Given the description of an element on the screen output the (x, y) to click on. 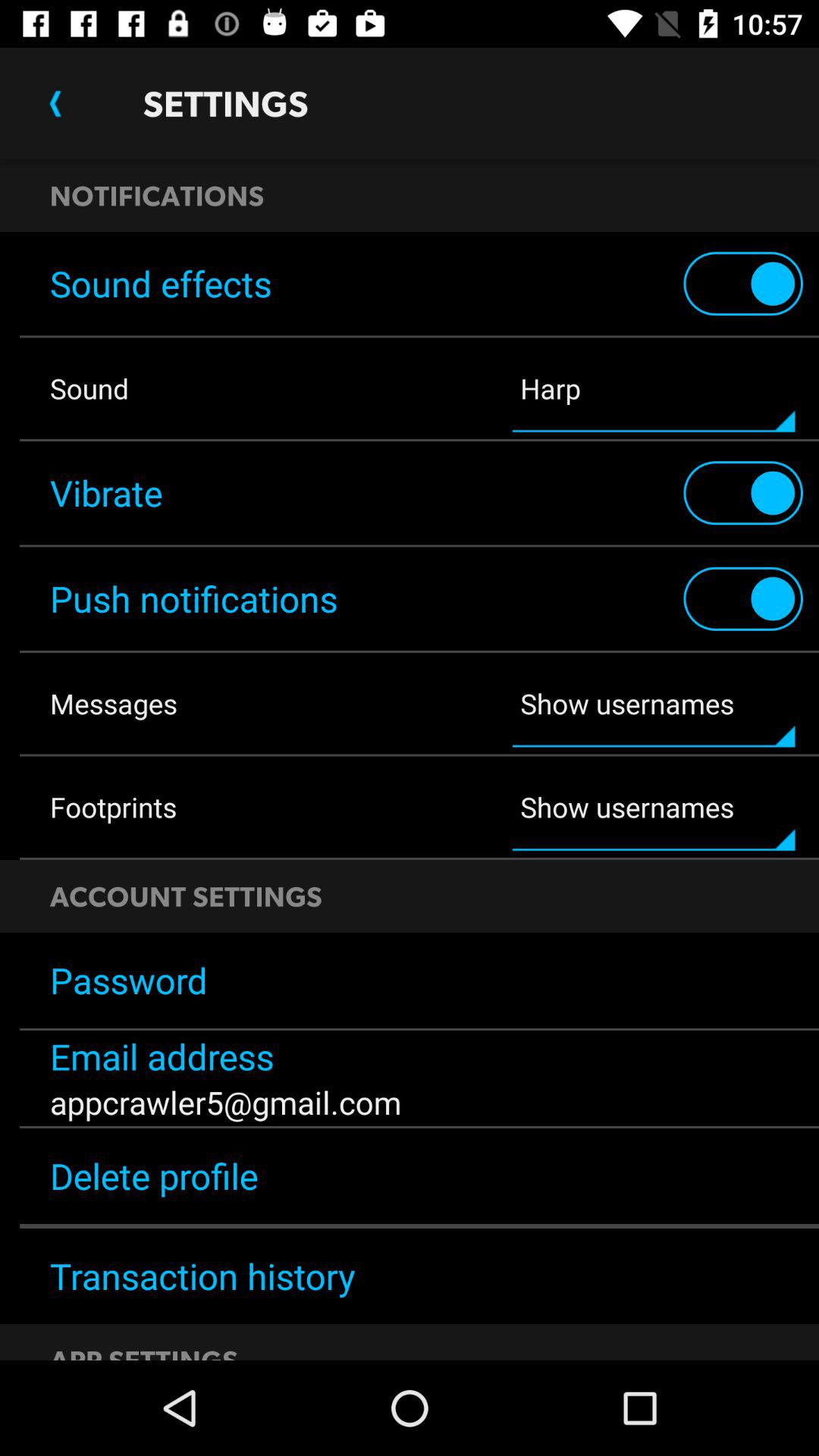
open the harp (653, 388)
